Given the description of an element on the screen output the (x, y) to click on. 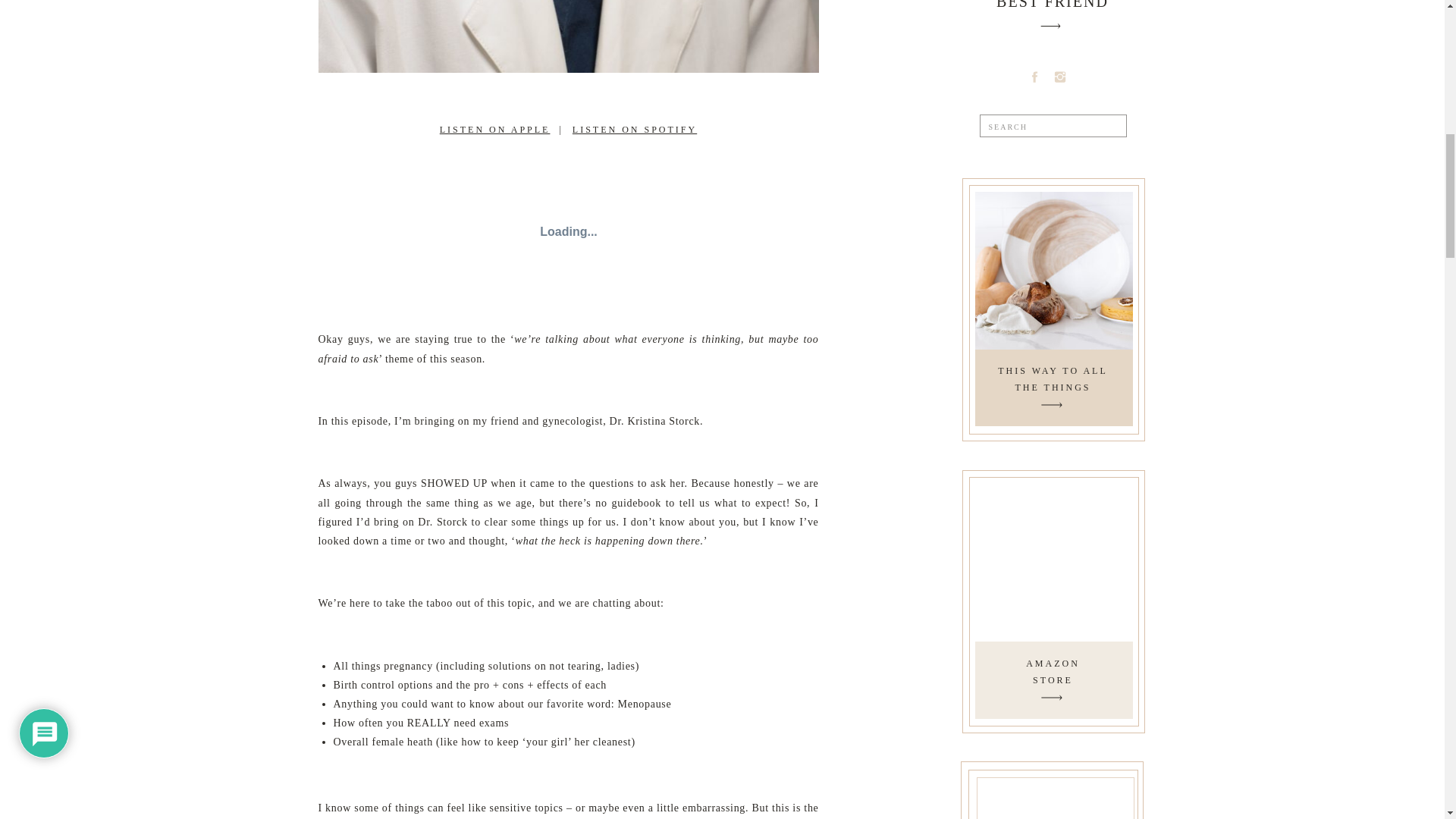
arrow (1052, 379)
arrow (1051, 697)
Embed Player (1050, 26)
arrow (568, 231)
arrow (1051, 697)
arrow (1052, 672)
BEST FRIEND (1051, 404)
arrow (1051, 404)
